Given the description of an element on the screen output the (x, y) to click on. 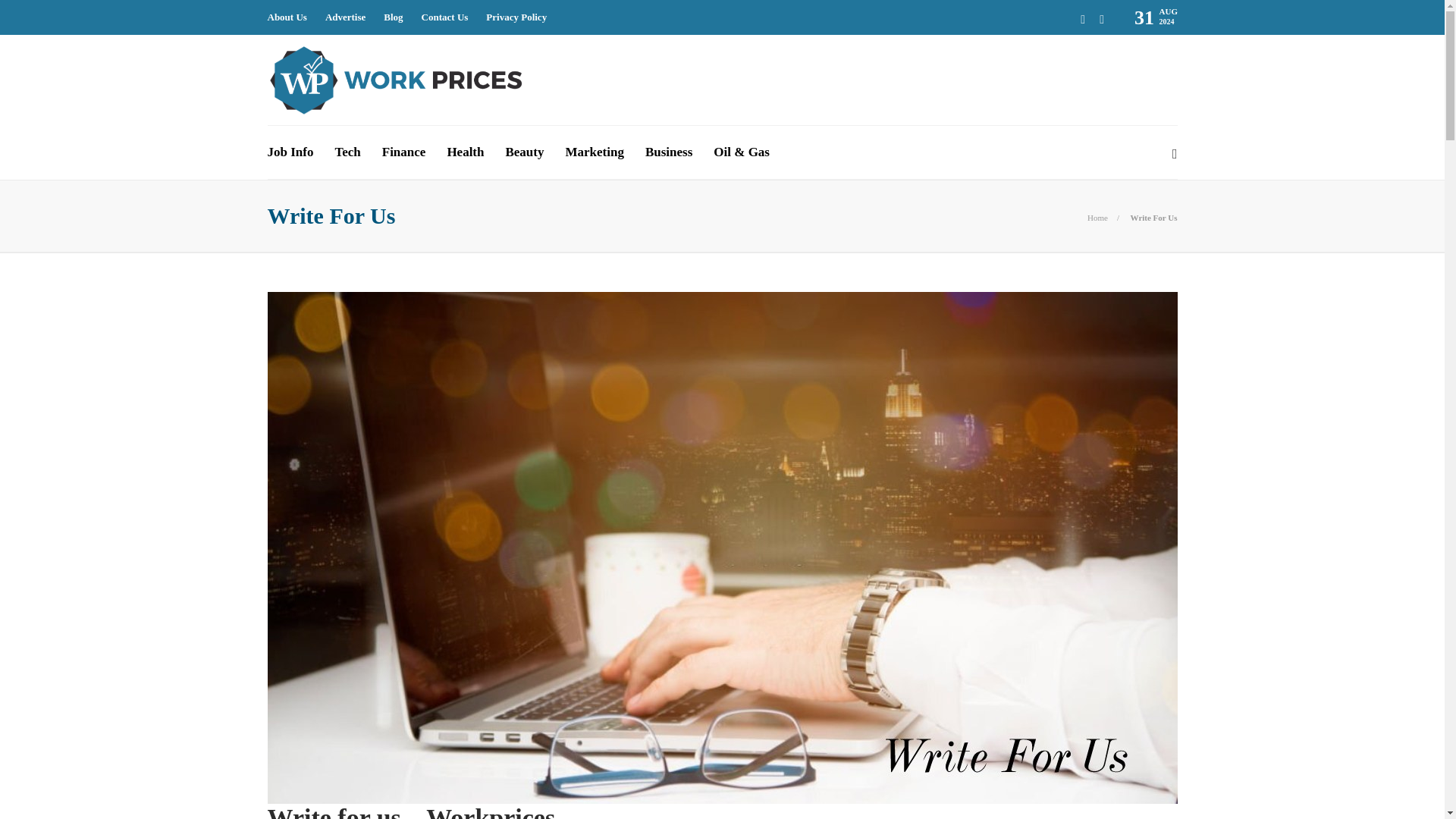
Write For Us (1152, 216)
Advertise (344, 17)
Home (1097, 216)
Marketing (593, 152)
Privacy Policy (516, 17)
Home (1097, 216)
About Us (285, 17)
Contact Us (445, 17)
